Given the description of an element on the screen output the (x, y) to click on. 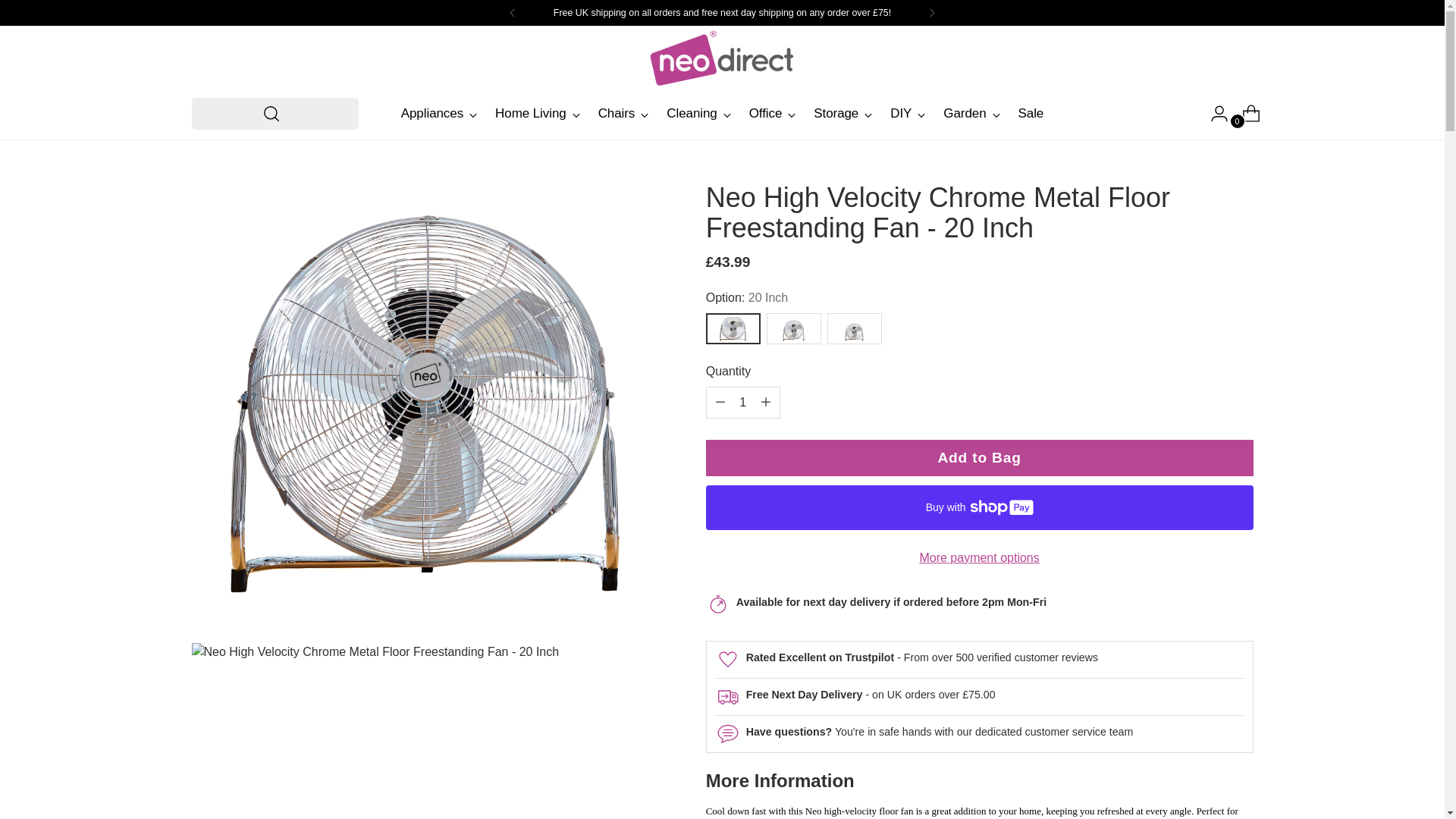
Next (932, 12)
Home Living (537, 113)
Previous (512, 12)
1 (743, 402)
Appliances (439, 113)
Chairs (623, 113)
